Given the description of an element on the screen output the (x, y) to click on. 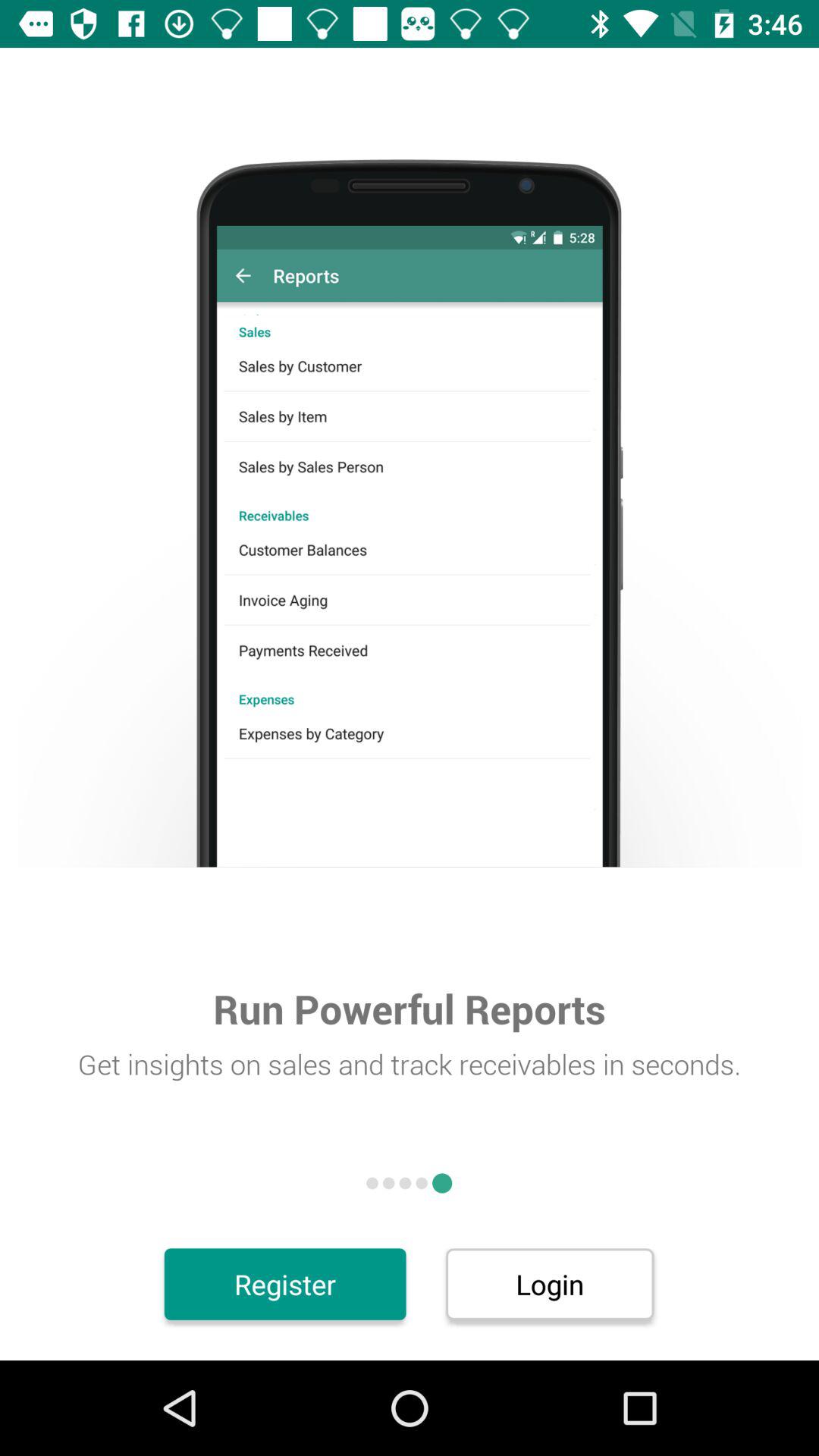
turn on the button at the bottom right corner (549, 1284)
